Given the description of an element on the screen output the (x, y) to click on. 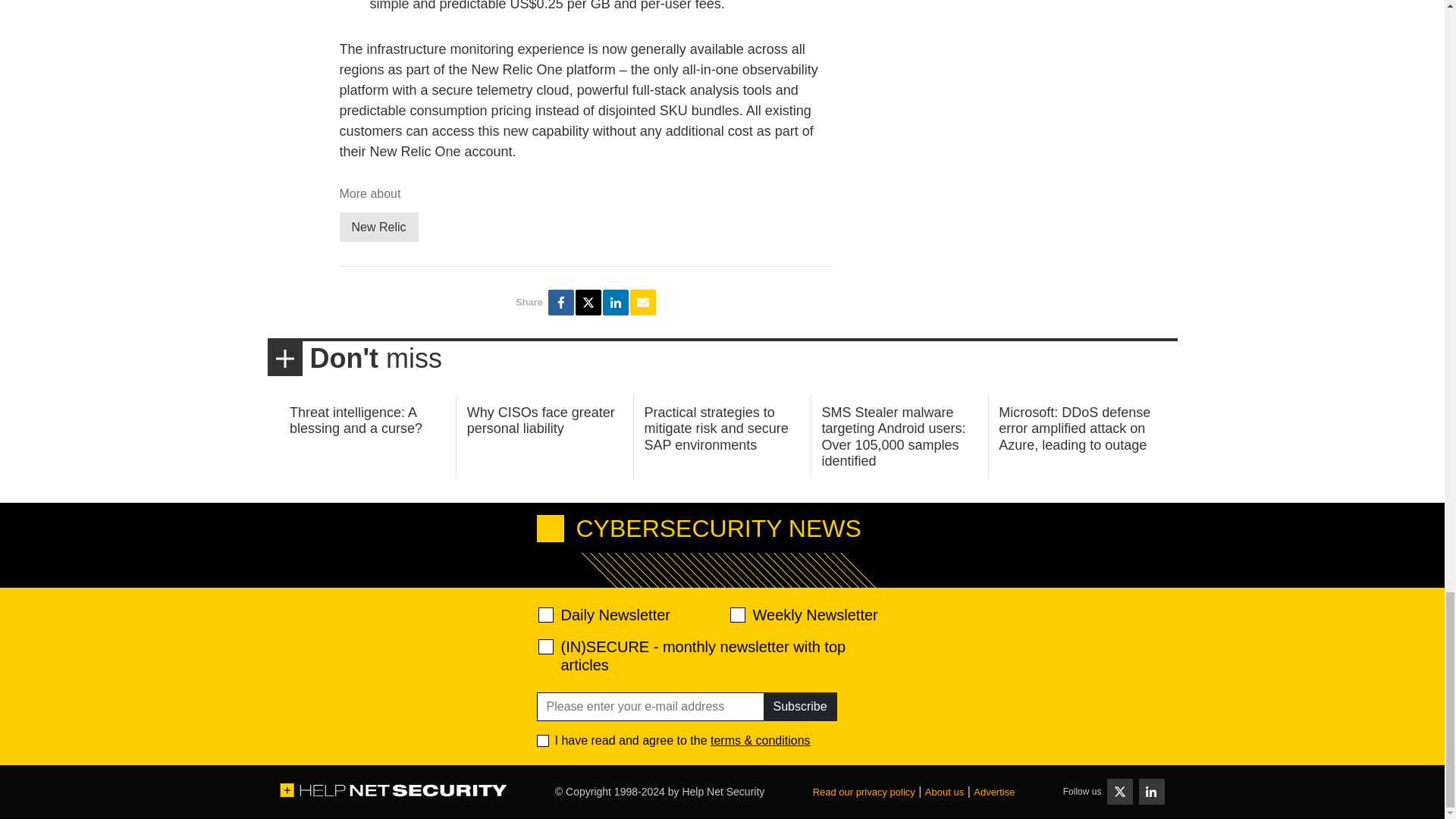
1 (542, 740)
New Relic (379, 226)
Why CISOs face greater personal liability (540, 420)
d2d471aafa (736, 614)
520ac2f639 (545, 614)
28abe5d9ef (545, 646)
New Relic (379, 226)
Threat intelligence: A blessing and a curse? (355, 420)
